Given the description of an element on the screen output the (x, y) to click on. 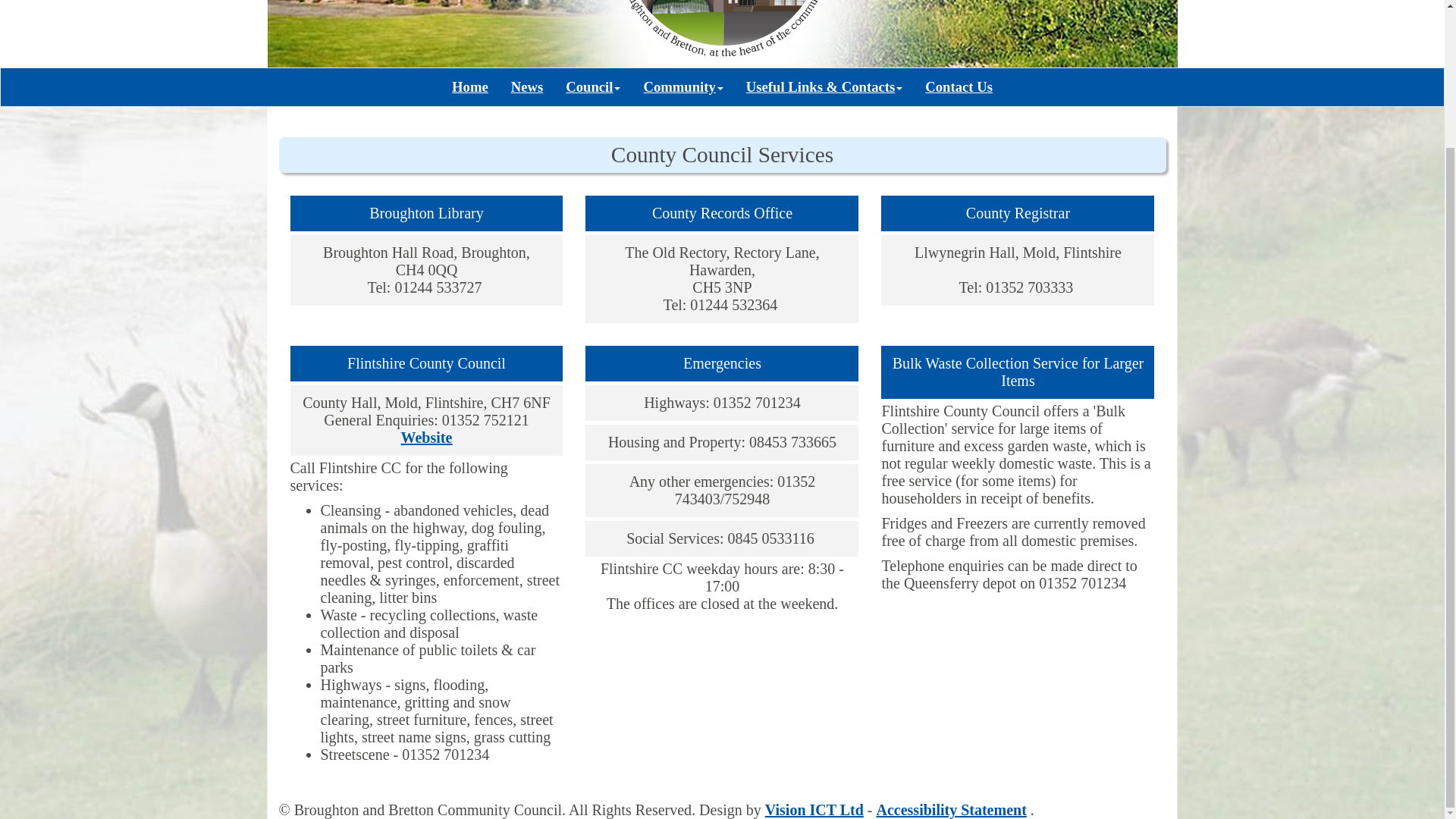
Vision ICT (814, 809)
Home (470, 86)
News (526, 86)
Contact Us (959, 86)
Community (682, 86)
Website (426, 437)
Council (592, 86)
